Given the description of an element on the screen output the (x, y) to click on. 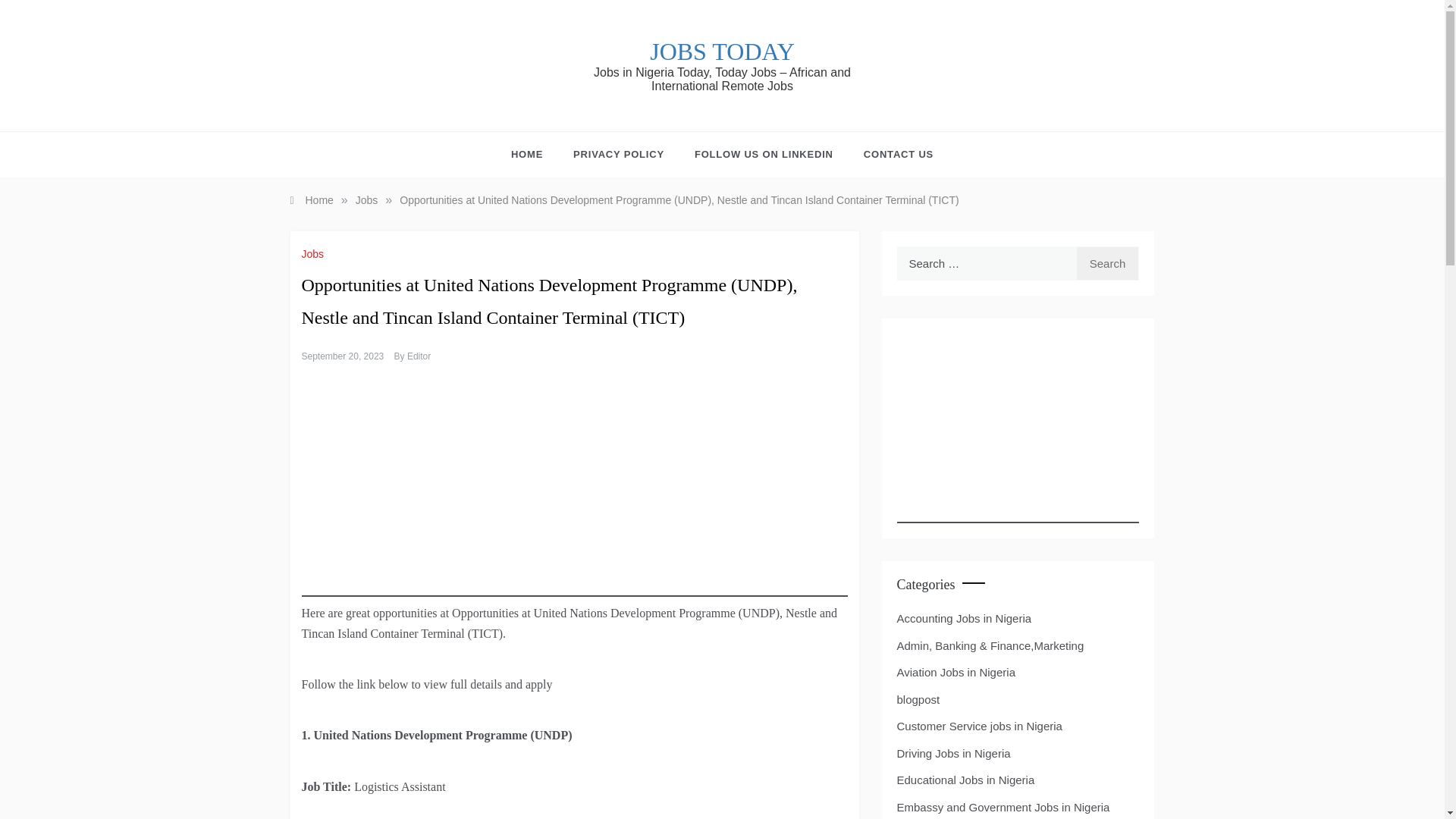
Editor (418, 356)
Educational Jobs in Nigeria (964, 780)
September 20, 2023 (342, 356)
CONTACT US (890, 154)
Driving Jobs in Nigeria (953, 753)
Jobs (315, 254)
Embassy and Government Jobs in Nigeria (1002, 807)
Aviation Jobs in Nigeria (955, 672)
blogpost (917, 700)
FOLLOW US ON LINKEDIN (763, 154)
Customer Service jobs in Nigeria (978, 726)
Search (1107, 263)
Advertisement (574, 490)
PRIVACY POLICY (618, 154)
Search (1107, 263)
